Given the description of an element on the screen output the (x, y) to click on. 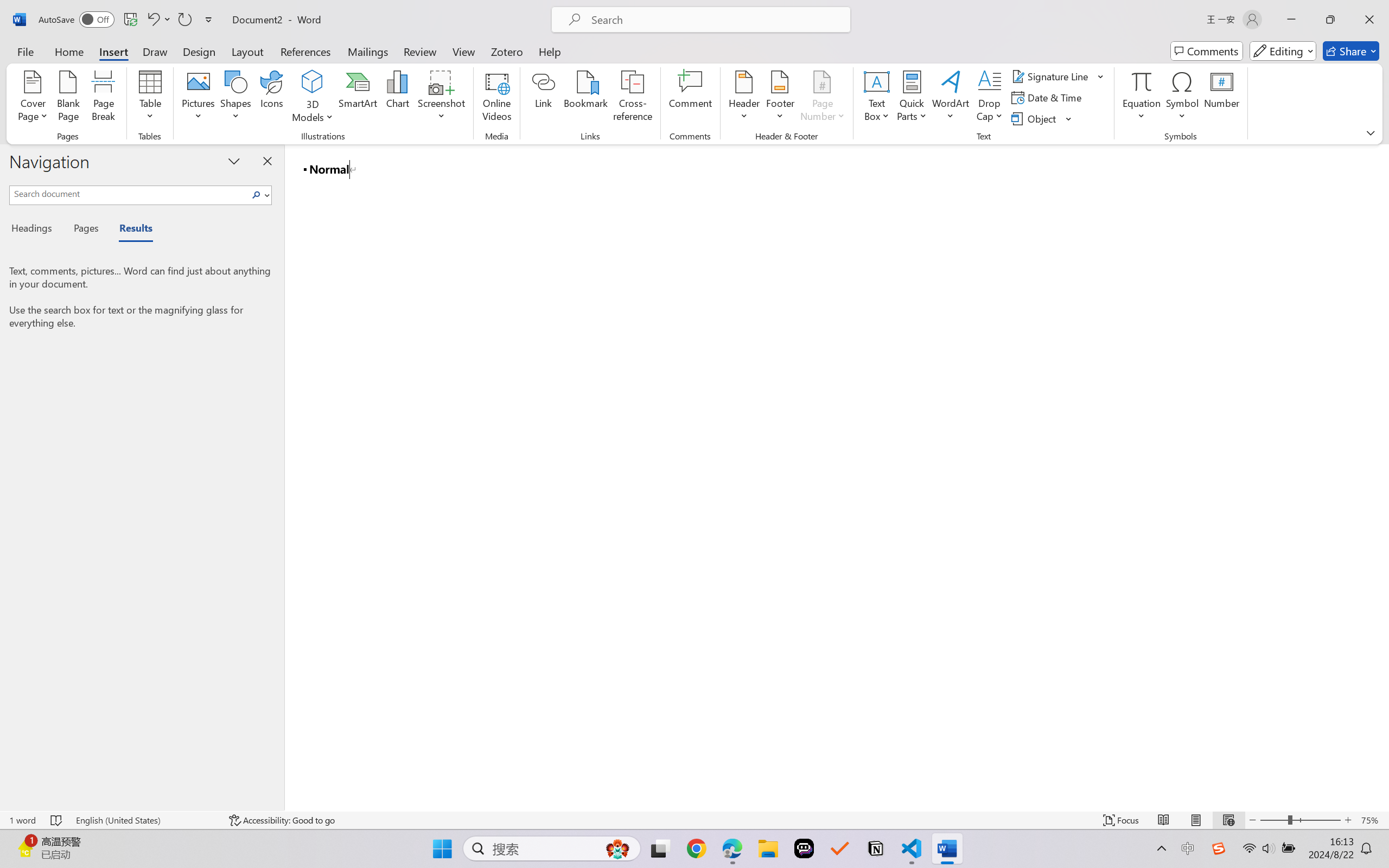
Ribbon Display Options (1370, 132)
References (306, 51)
Page Break (103, 97)
Undo <ApplyStyleToDoc>b__0 (152, 19)
Comment (689, 97)
Pages (85, 229)
Text Box (876, 97)
Page Number (822, 97)
